Given the description of an element on the screen output the (x, y) to click on. 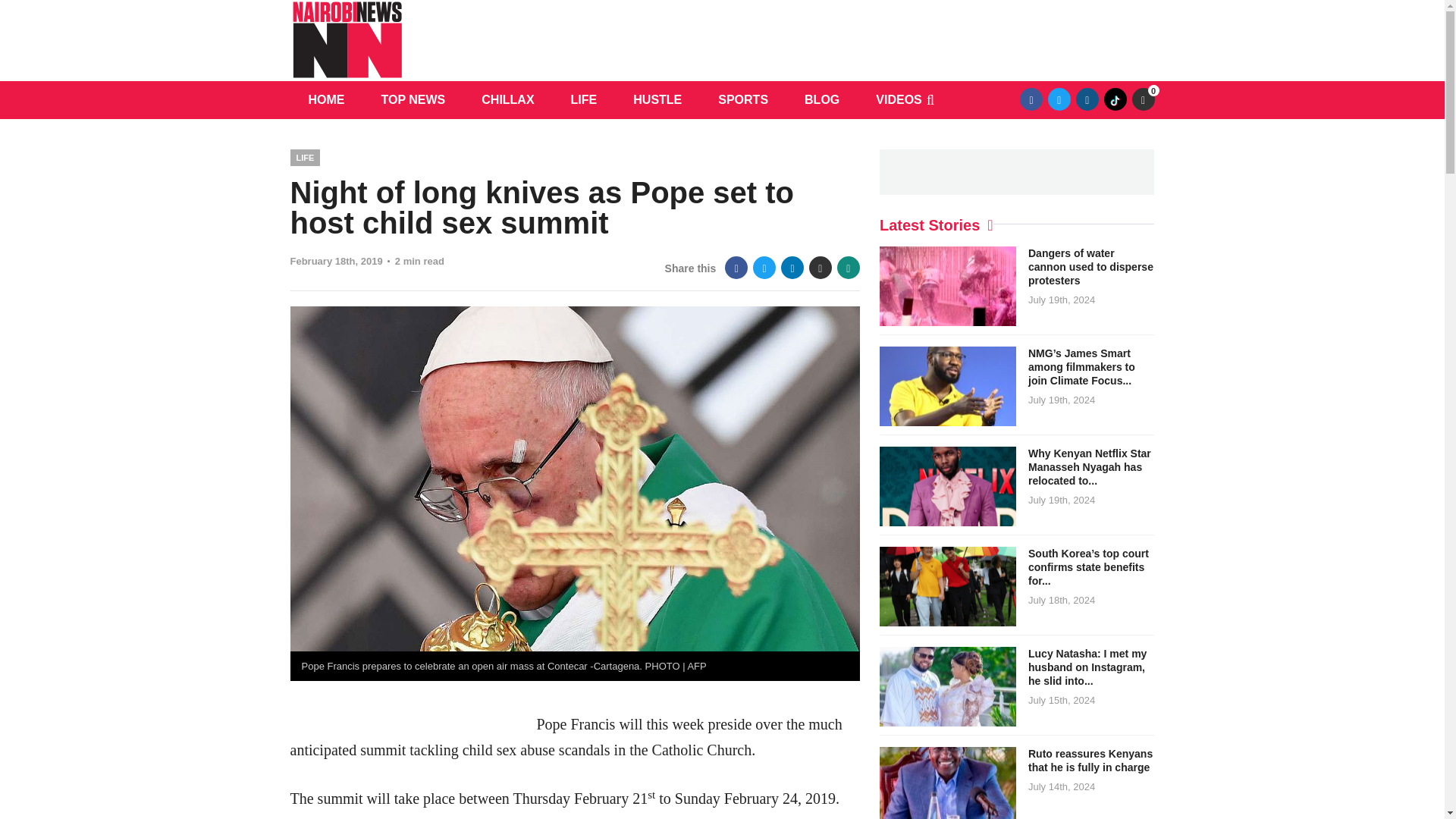
TOP NEWS (412, 99)
LinkedIn (791, 267)
Updates made in the last 20 minutes (1142, 98)
Facebook (1031, 98)
LIFE (304, 157)
Twitter (1059, 98)
CHILLAX (507, 99)
BLOG (821, 99)
Email (820, 267)
0 (1142, 98)
Twitter (764, 267)
TikTok (1114, 98)
VIDEOS (898, 99)
HOME (325, 99)
LIFE (584, 99)
